Given the description of an element on the screen output the (x, y) to click on. 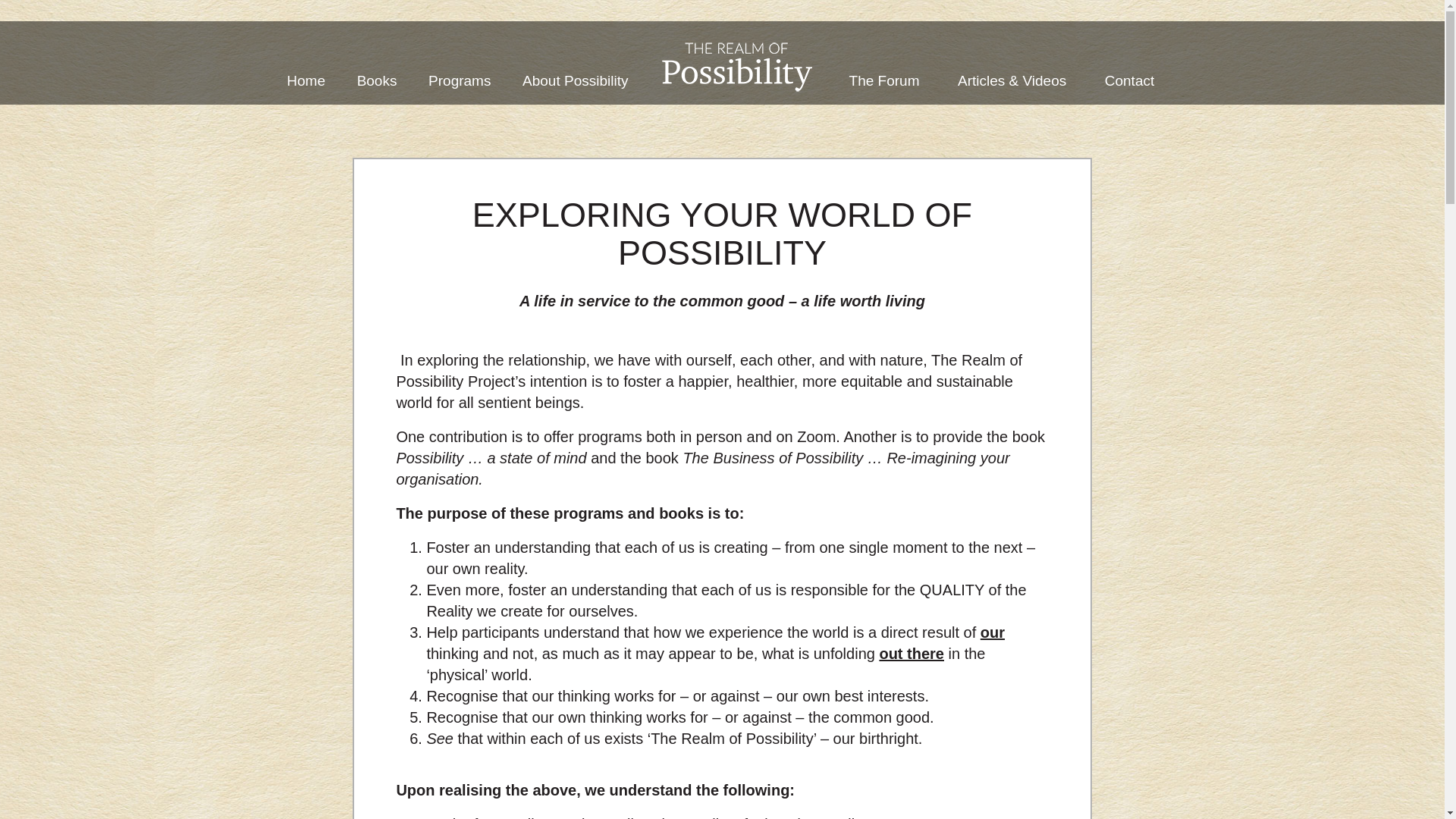
The Forum (884, 81)
Contact (1129, 81)
Programs (459, 81)
Books (376, 81)
About Possibility (574, 81)
Home (305, 81)
